Given the description of an element on the screen output the (x, y) to click on. 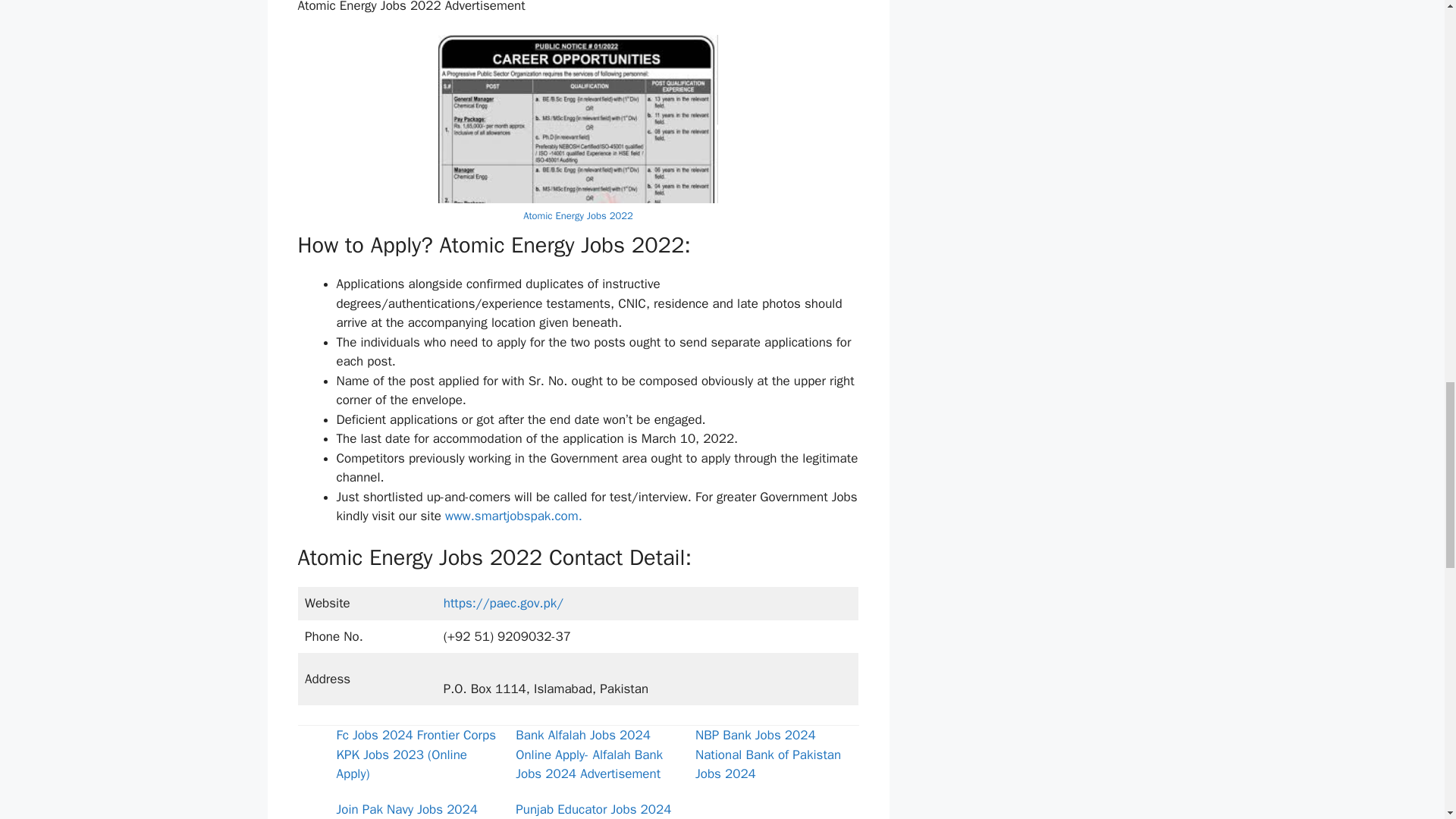
www.smartjobspak.com. (513, 515)
Join Pak Navy Jobs 2024 Pak Navy Jobs 2024 Online Apply (414, 810)
Atomic Energy Jobs 2022 (577, 215)
NBP Bank Jobs 2024 National Bank of Pakistan Jobs 2024 (768, 754)
